Given the description of an element on the screen output the (x, y) to click on. 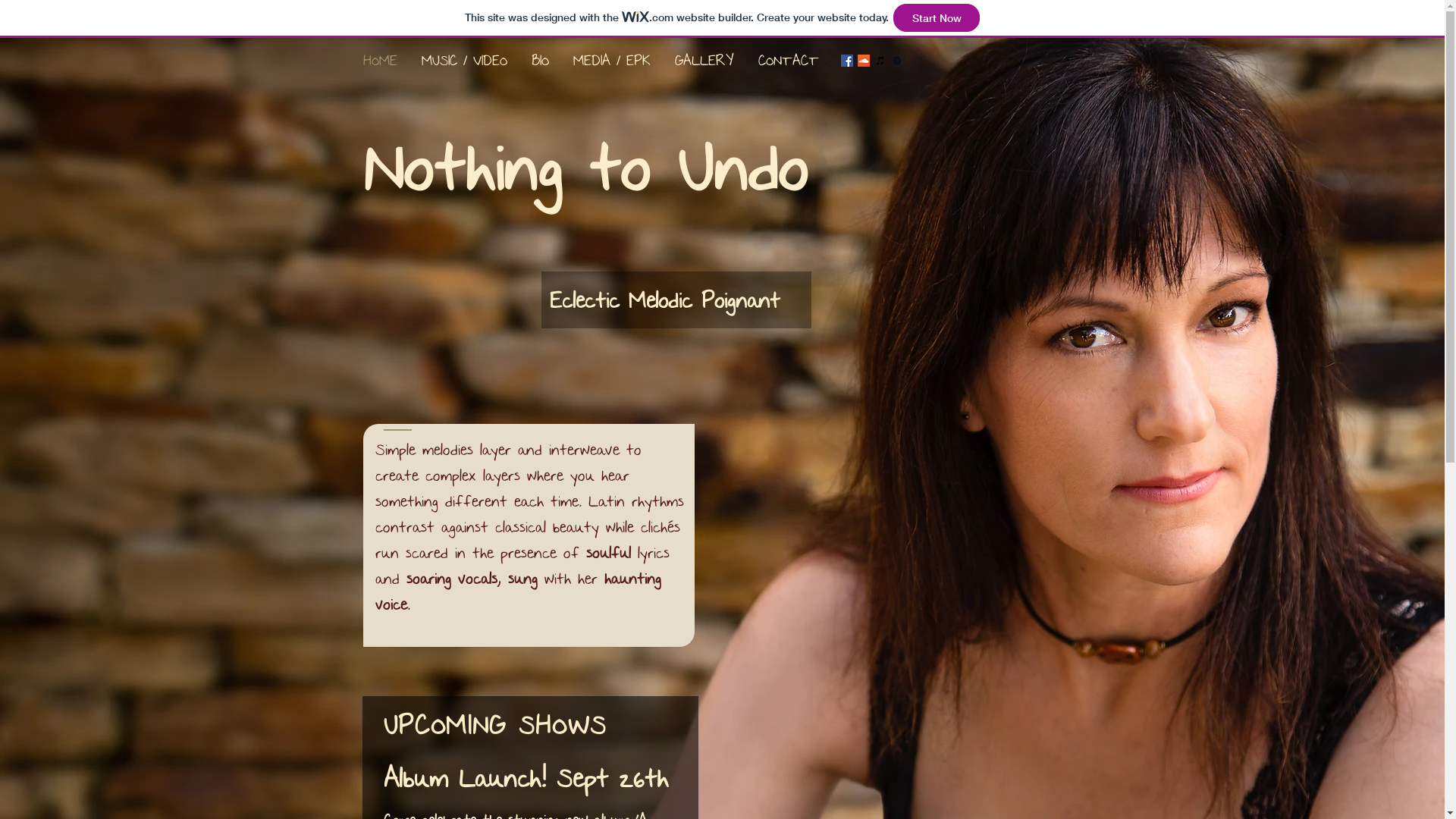
Nothing to Undo Element type: text (584, 167)
HOME Element type: text (379, 60)
CONTACT Element type: text (788, 60)
MUSIC / VIDEO Element type: text (464, 60)
GALLERY Element type: text (704, 60)
BIO Element type: text (539, 60)
MEDIA / EPK Element type: text (611, 60)
UPCOMING SHOWS Element type: text (495, 724)
